Given the description of an element on the screen output the (x, y) to click on. 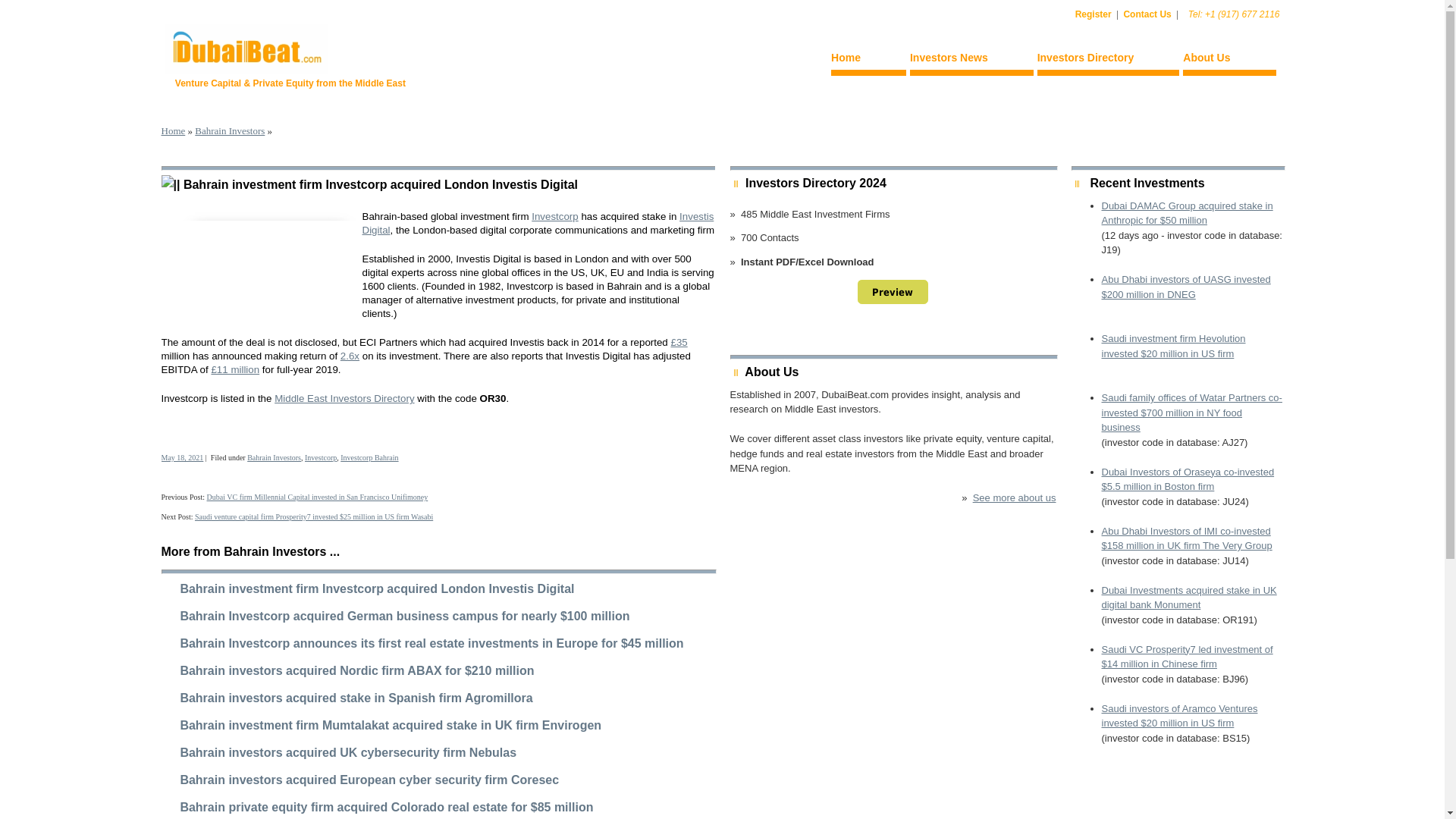
About Us (1228, 60)
2.6x (349, 355)
Investis Digital (538, 222)
Register (1094, 14)
Investors News (971, 60)
Contact Us (1146, 14)
Investcorp (554, 215)
Home (868, 60)
Home (172, 130)
Investors Directory (1107, 60)
Bahrain Investors (229, 130)
